Given the description of an element on the screen output the (x, y) to click on. 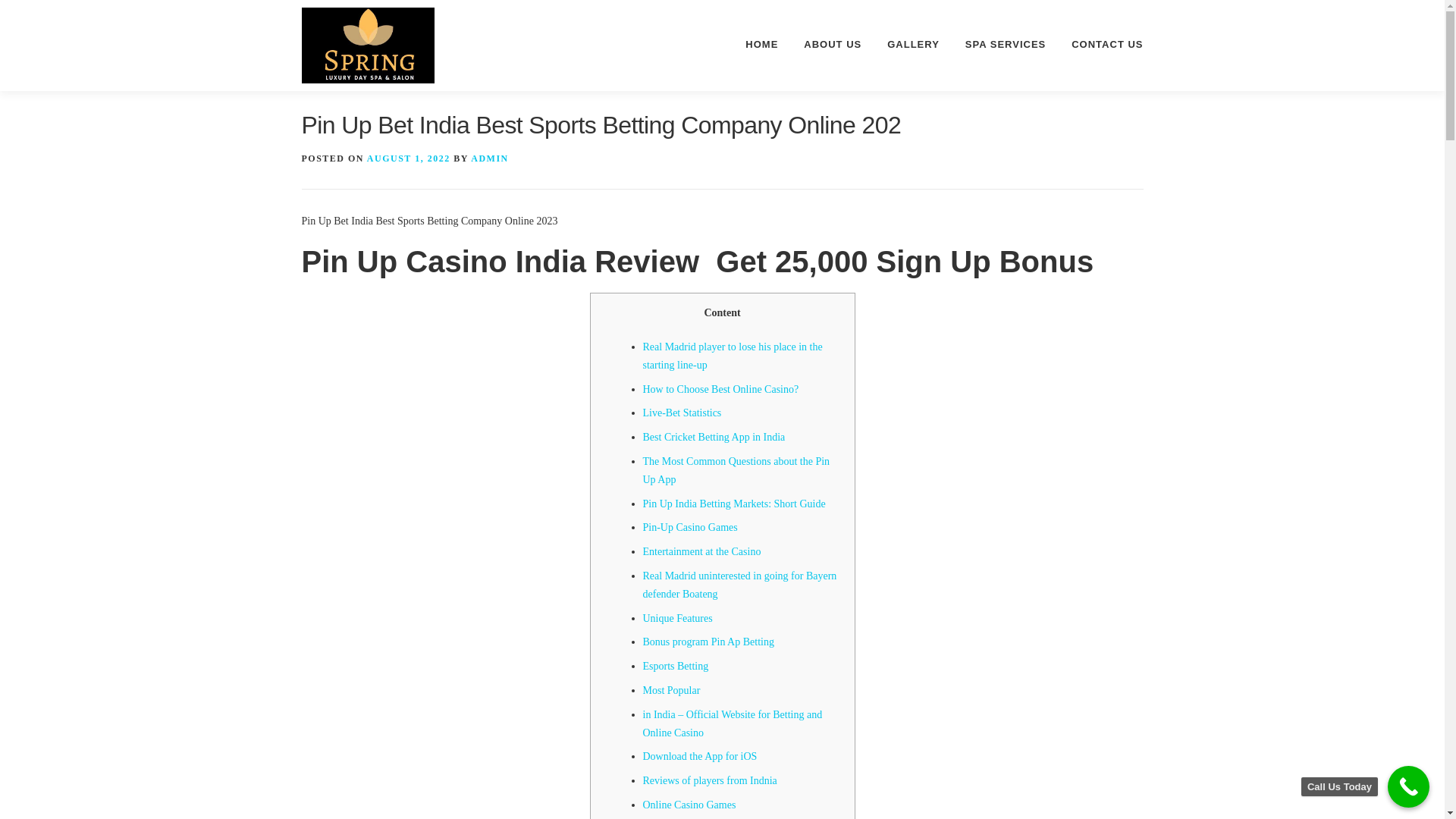
Most Popular (671, 690)
Online Casino Games (689, 804)
CONTACT US (1100, 44)
ADMIN (489, 158)
Esports Betting (676, 665)
The Most Common Questions about the Pin Up App (736, 470)
Best Cricket Betting App in India (714, 437)
Unique Features (678, 618)
Pin Up India Betting Markets: Short Guide (734, 503)
